Given the description of an element on the screen output the (x, y) to click on. 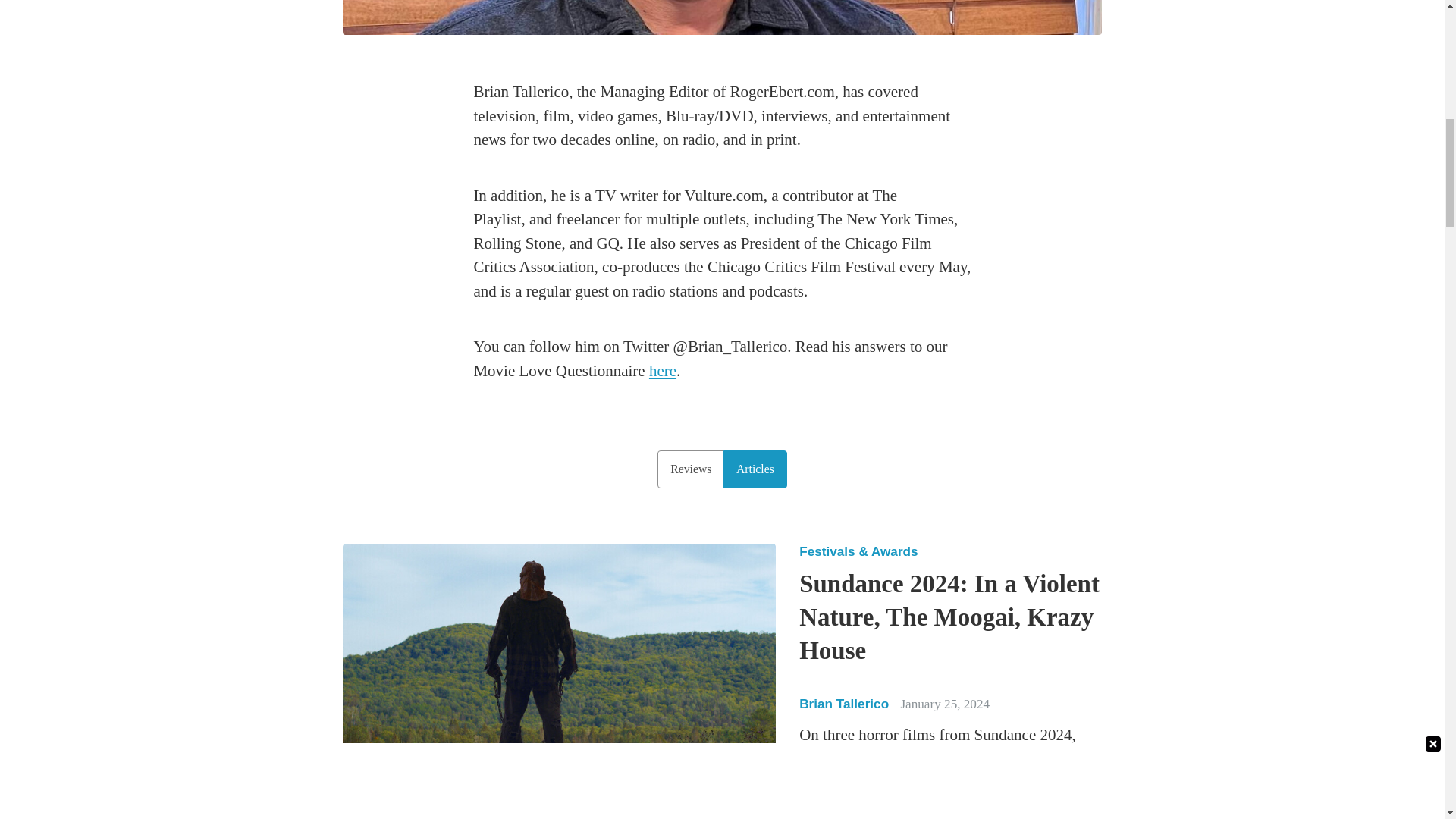
Brian Tallerico (721, 18)
Articles (754, 468)
here (663, 370)
Reviews (690, 468)
